Given the description of an element on the screen output the (x, y) to click on. 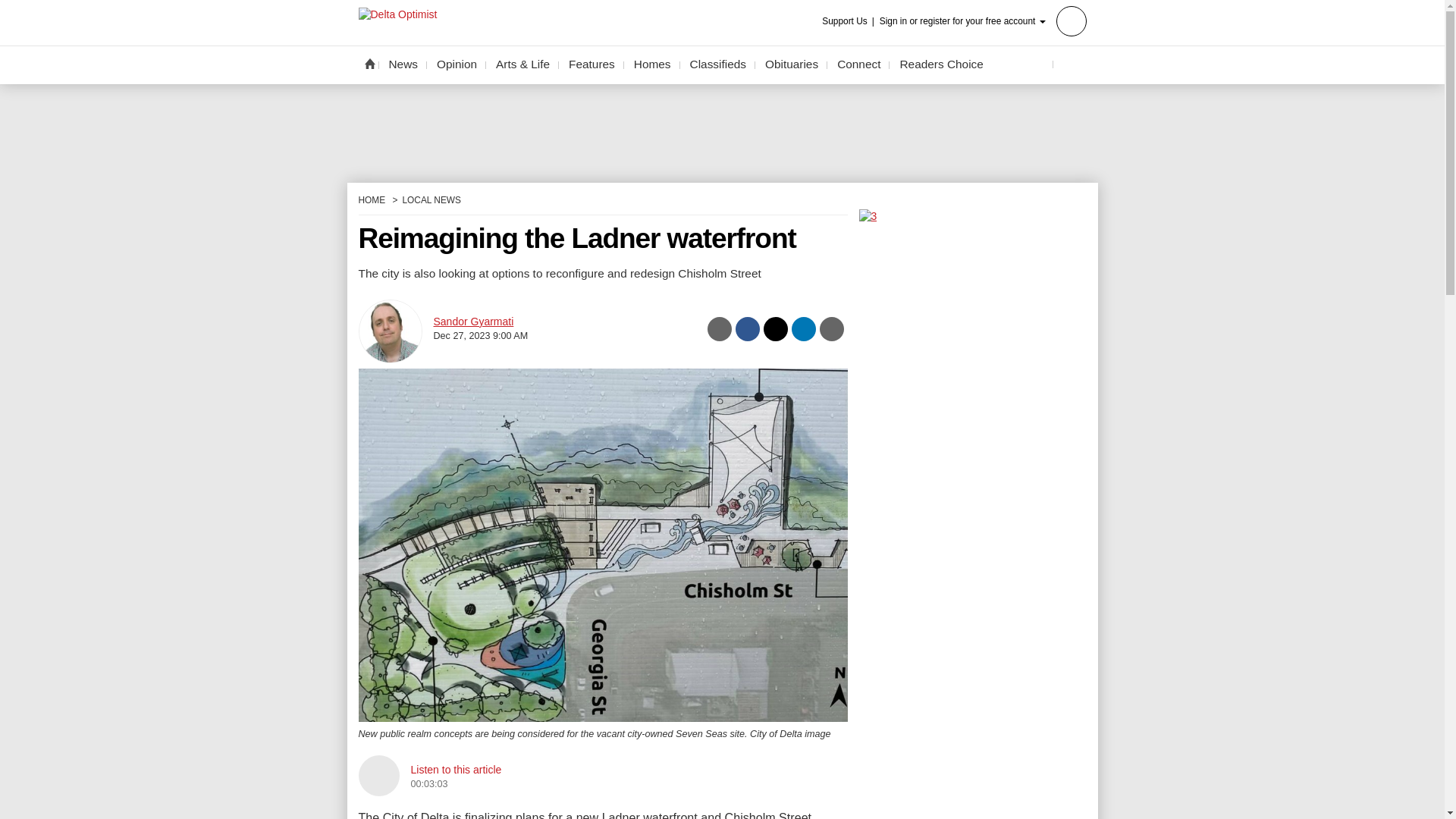
News (403, 64)
Home (368, 63)
Support Us (849, 21)
Opinion (456, 64)
Sign in or register for your free account (982, 20)
